Given the description of an element on the screen output the (x, y) to click on. 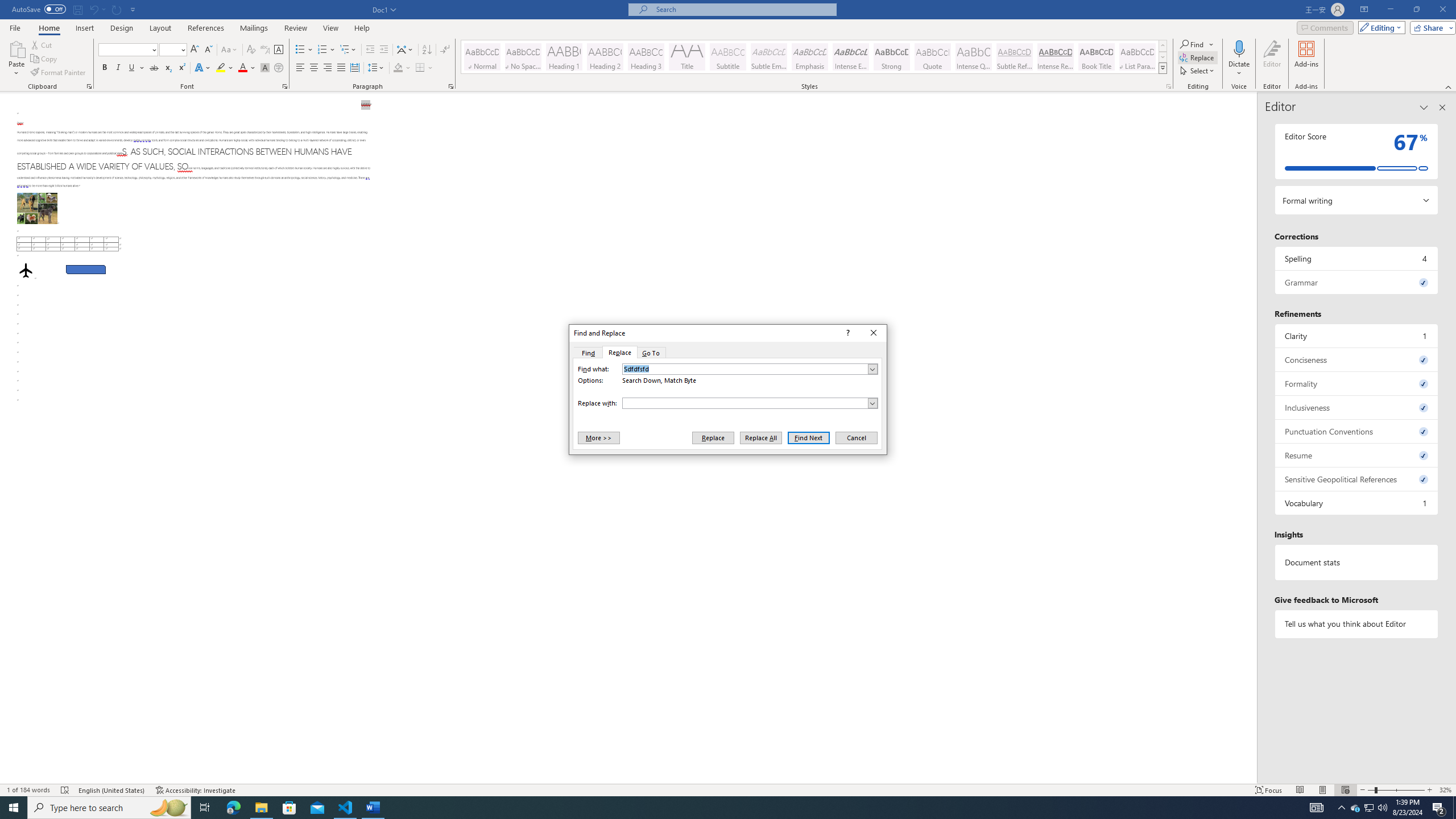
Word Count 1 of 184 words (28, 790)
Replace (619, 352)
Find what: (749, 369)
Intense Quote (973, 56)
Formality, 0 issues. Press space or enter to review items. (1356, 383)
